Given the description of an element on the screen output the (x, y) to click on. 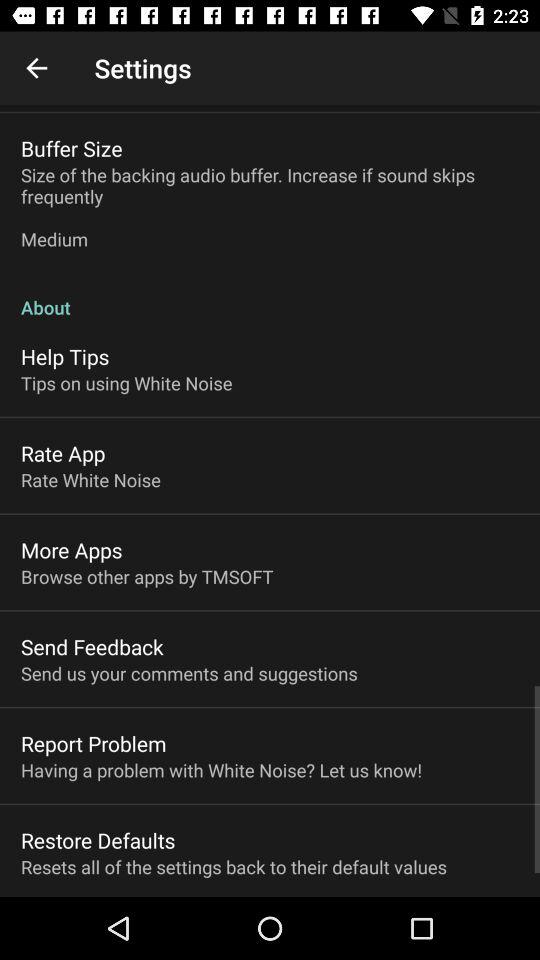
click the item above the rate white noise icon (63, 453)
